Given the description of an element on the screen output the (x, y) to click on. 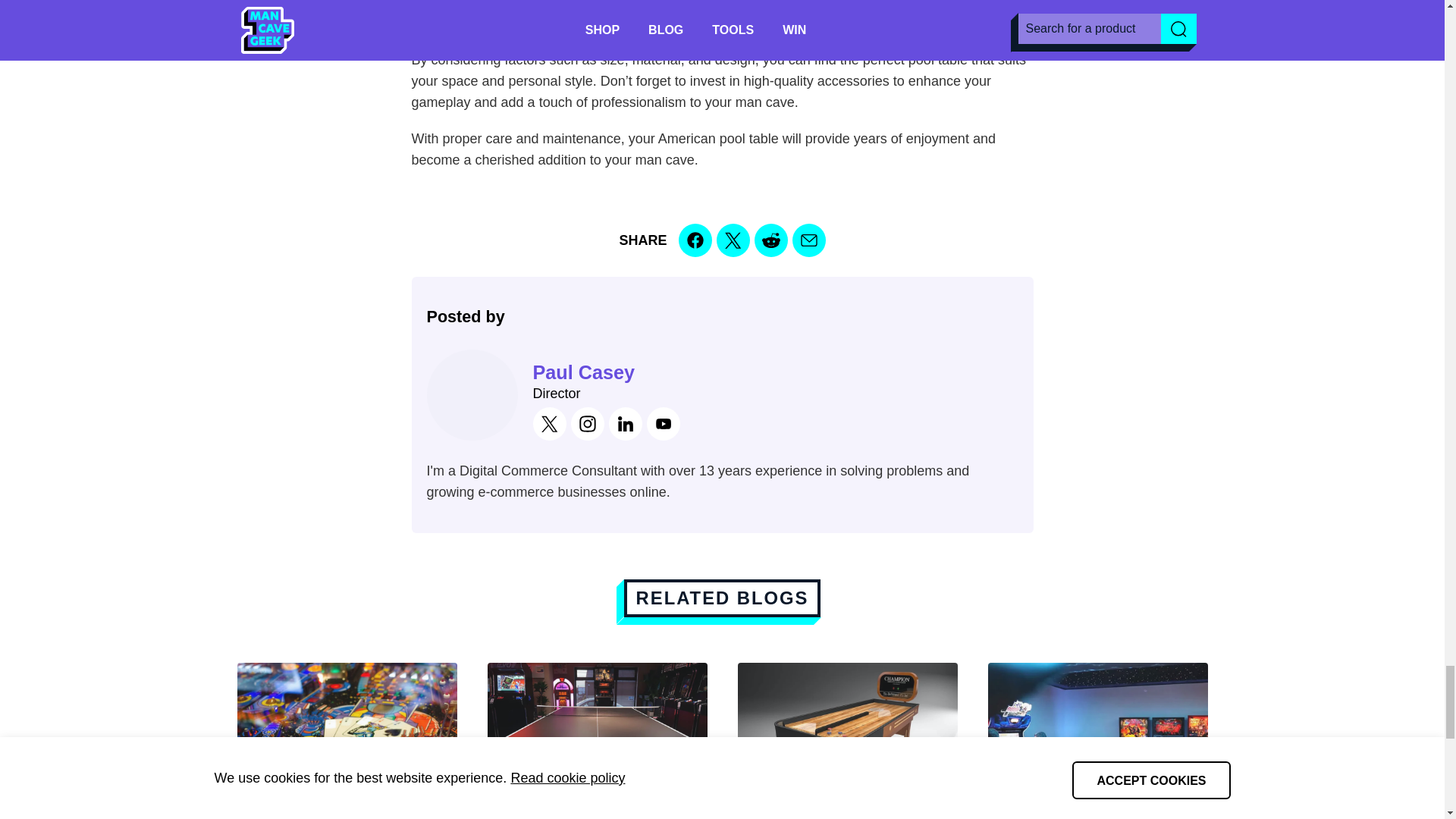
Share to X (732, 240)
Share to Reddit (770, 240)
Blog (722, 597)
LinkedIn (625, 423)
The Man Cave Table Tennis Buyers Guide (596, 740)
Share via Email (808, 240)
What Are The Best Pinball Machines For A Games Room? (346, 740)
X (549, 423)
YouTube (662, 423)
Instagram (587, 423)
Share to Facebook (694, 240)
